Given the description of an element on the screen output the (x, y) to click on. 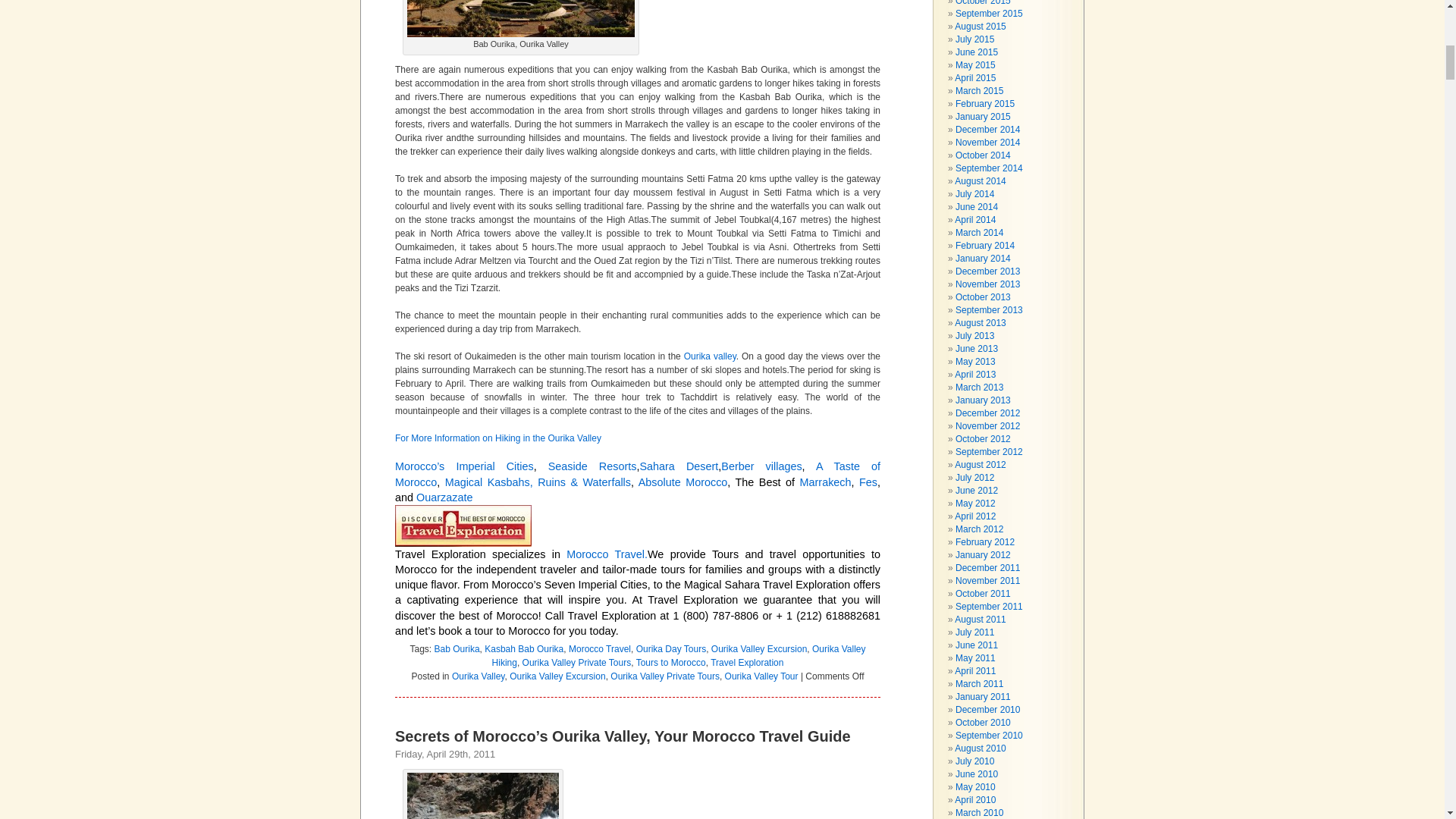
Bab Ourika Valley Photographer Alan Keohane (520, 18)
Seaside Resorts (592, 466)
travel-exploration-signature-logo-link13 (462, 526)
Sahara Desert (678, 466)
Ourika-Valley-Waterfalls (483, 796)
For More Information on Hiking in the Ourika Valley   (500, 438)
